Given the description of an element on the screen output the (x, y) to click on. 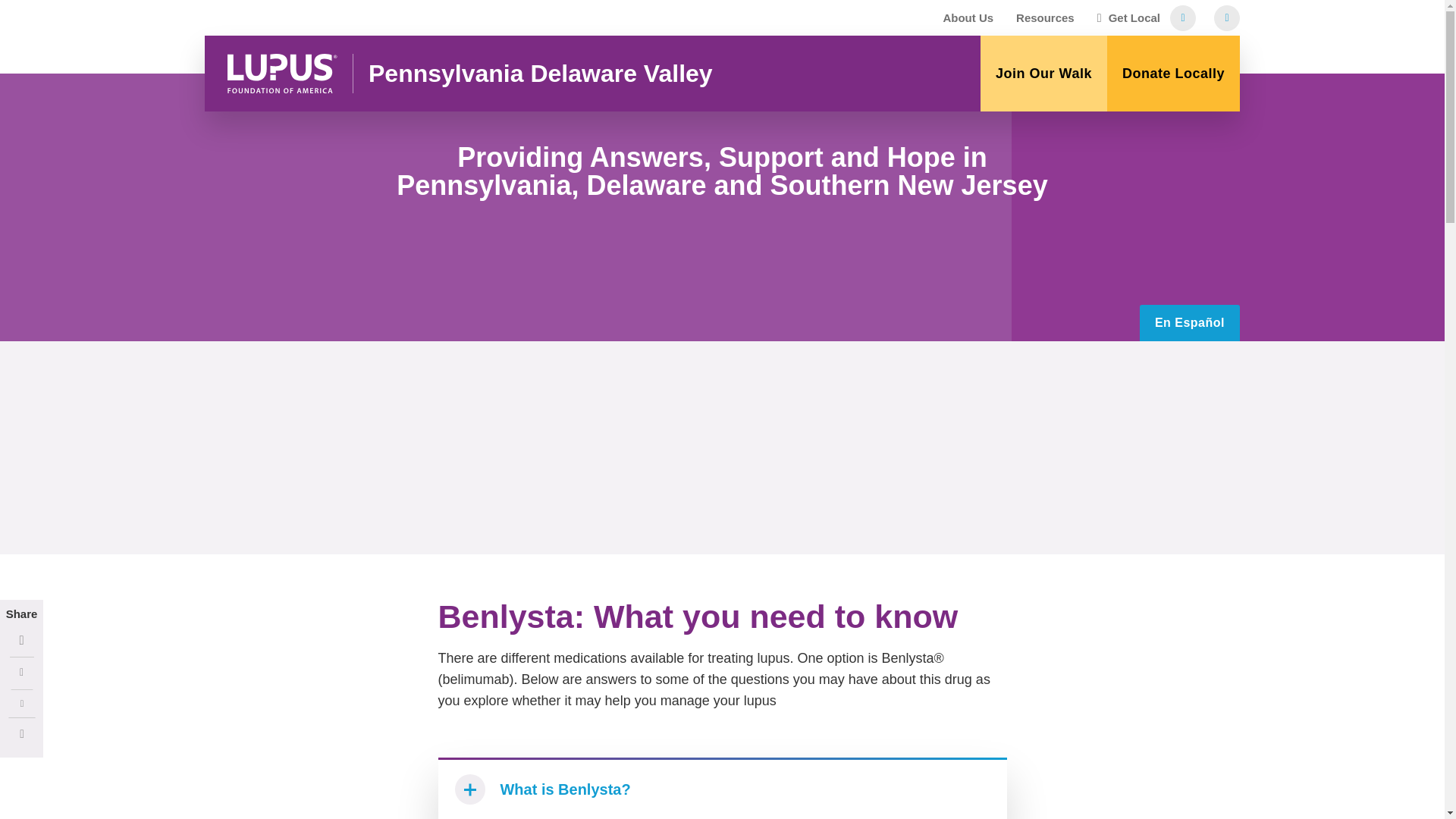
Lupus Foundation of America (282, 73)
